Given the description of an element on the screen output the (x, y) to click on. 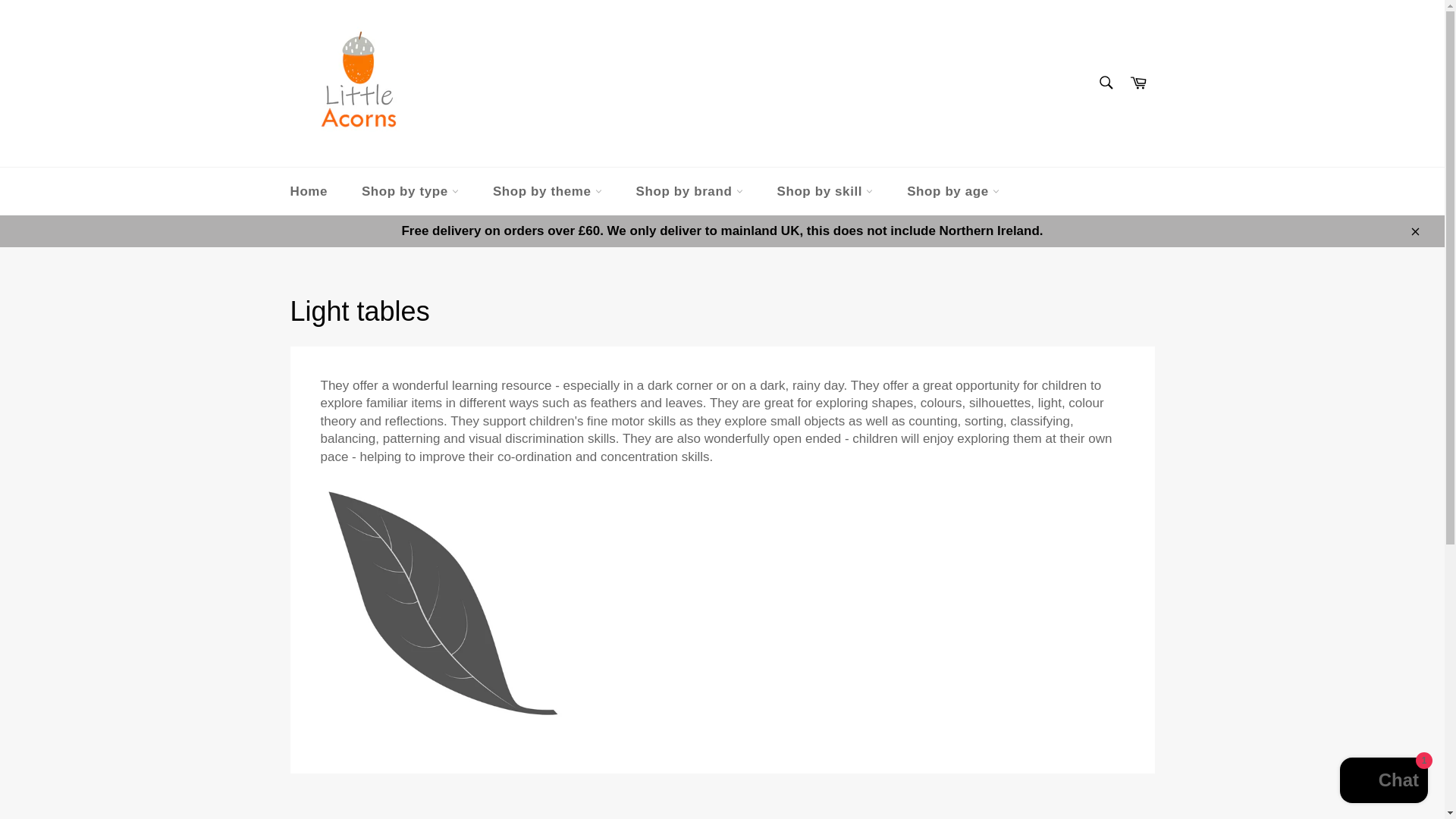
Shopify online store chat (1383, 781)
